Given the description of an element on the screen output the (x, y) to click on. 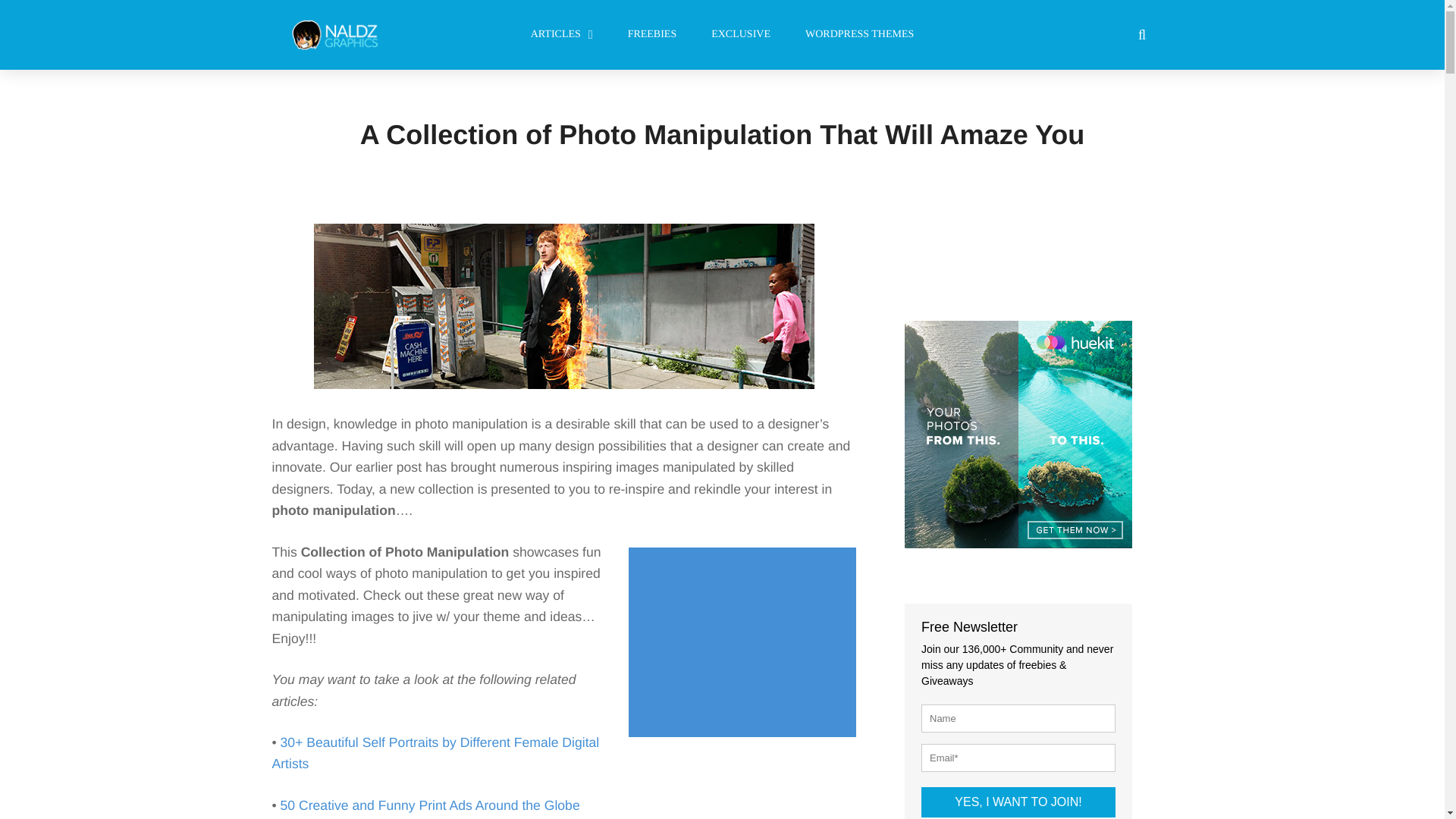
ARTICLES (561, 34)
WORDPRESS THEMES (859, 34)
Advertisement (745, 643)
huekit lightroom presets (1018, 434)
EXCLUSIVE (740, 34)
FREEBIES (652, 34)
